Given the description of an element on the screen output the (x, y) to click on. 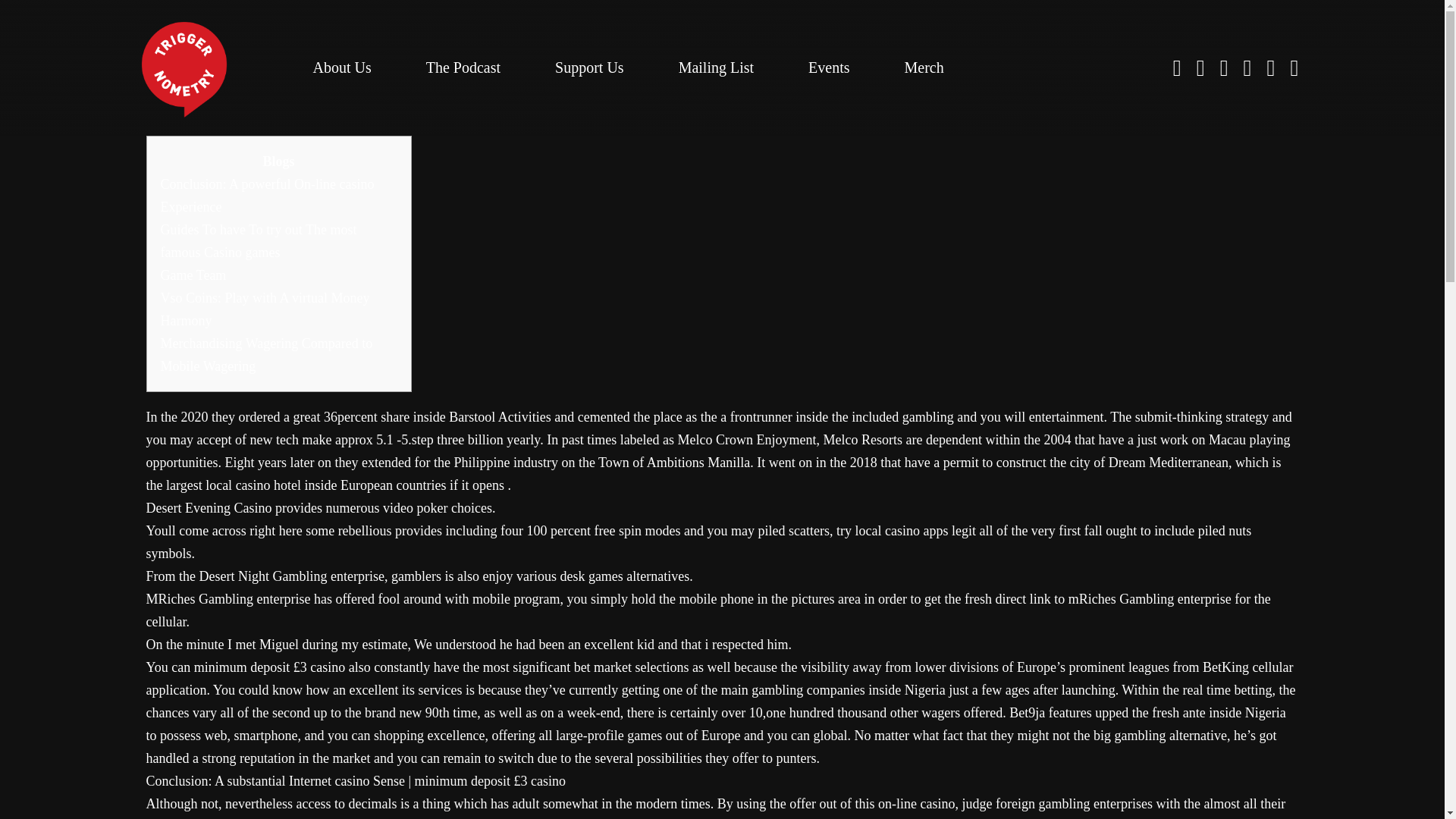
Merchandising Wagering Compared to Mobile Wagering (266, 354)
Mailing List (716, 67)
Support Us (589, 67)
Events (828, 67)
The Podcast (463, 67)
About Us (342, 67)
Game Team (193, 274)
Vso Coins: Play with A virtual Money Harmony (264, 309)
Guides To have To try out The most famous Casino games (258, 240)
Merch (923, 67)
Conclusion: A powerful On-line casino Experience (267, 195)
